Given the description of an element on the screen output the (x, y) to click on. 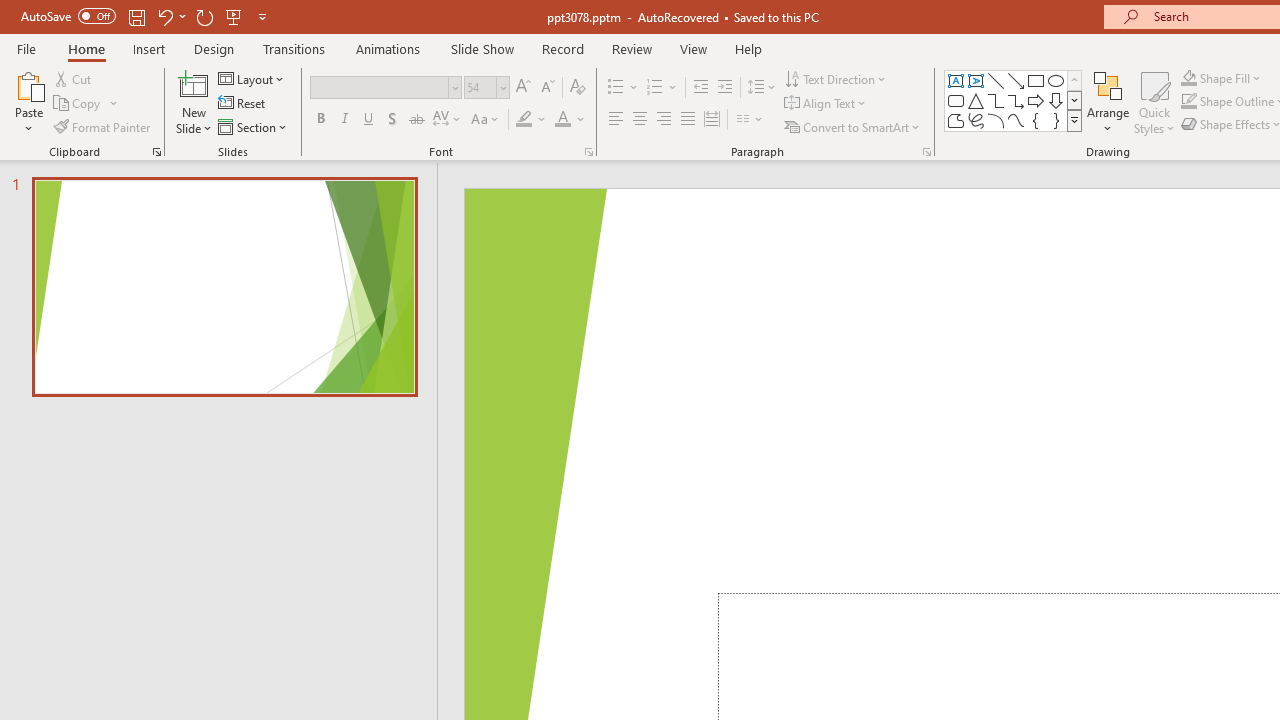
Align Text (826, 103)
Row up (1074, 79)
Increase Font Size (522, 87)
Italic (344, 119)
Font Color Red (562, 119)
Text Highlight Color Yellow (524, 119)
Help (748, 48)
Text Highlight Color (531, 119)
Numbering (661, 87)
Shape Outline Green, Accent 1 (1188, 101)
Record (562, 48)
Section (254, 126)
Rectangle: Rounded Corners (955, 100)
Paragraph... (926, 151)
Undo (170, 15)
